Given the description of an element on the screen output the (x, y) to click on. 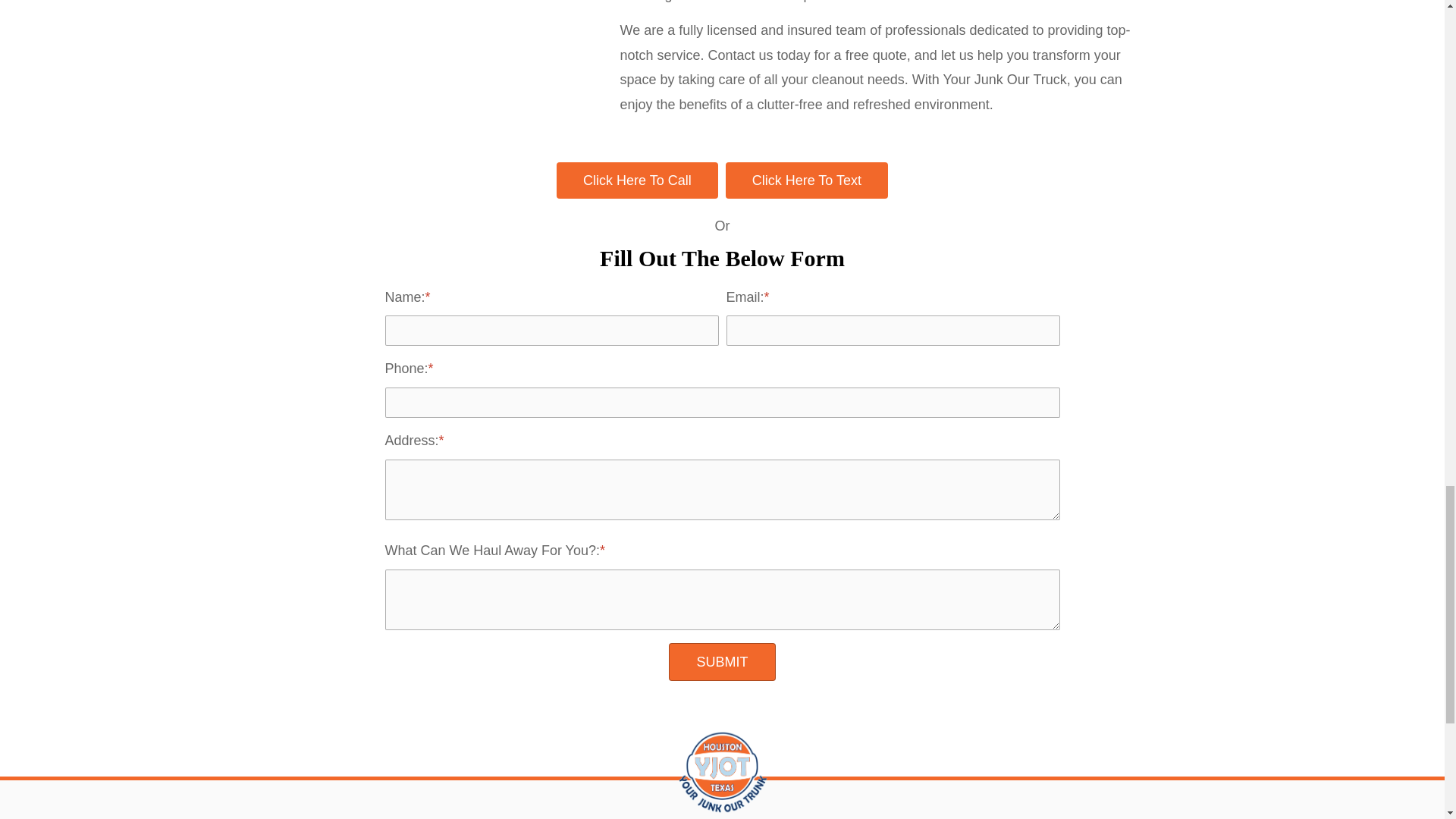
Click Here To Call (636, 180)
SUBMIT (721, 661)
SUBMIT (721, 661)
Click Here To Text (806, 180)
